Given the description of an element on the screen output the (x, y) to click on. 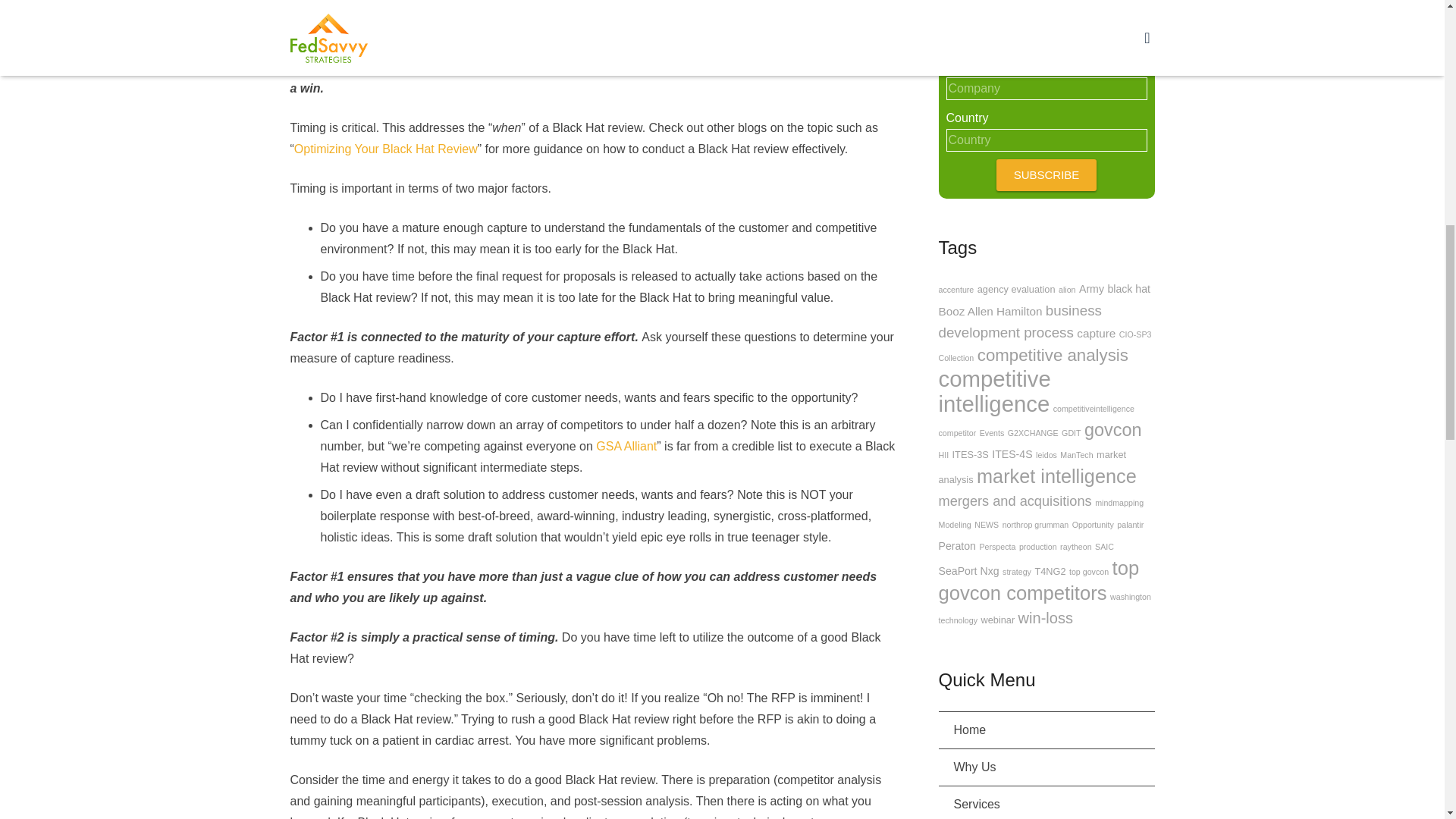
Optimizing Your Black Hat Review (385, 148)
GSA Alliant (625, 445)
Back to top (1411, 21)
